Given the description of an element on the screen output the (x, y) to click on. 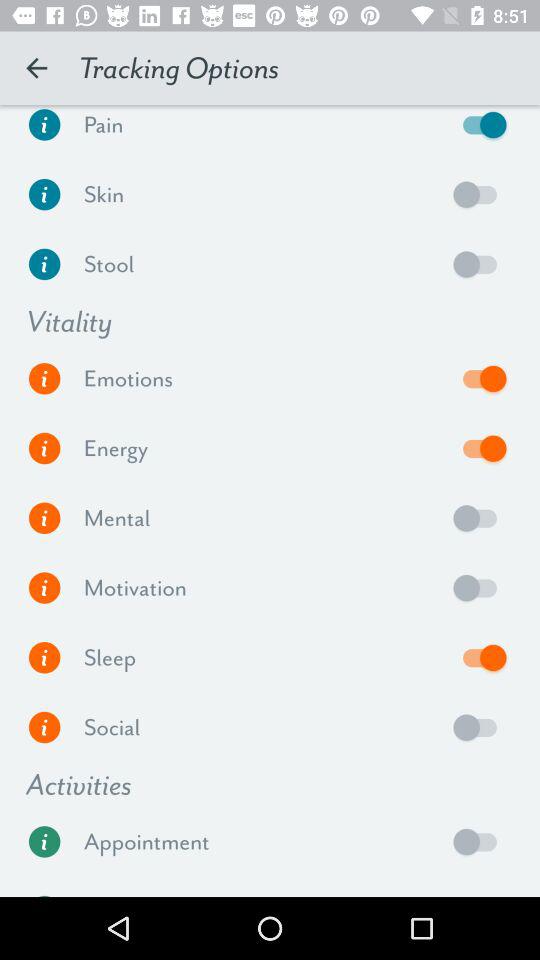
toggle on or off (479, 264)
